Given the description of an element on the screen output the (x, y) to click on. 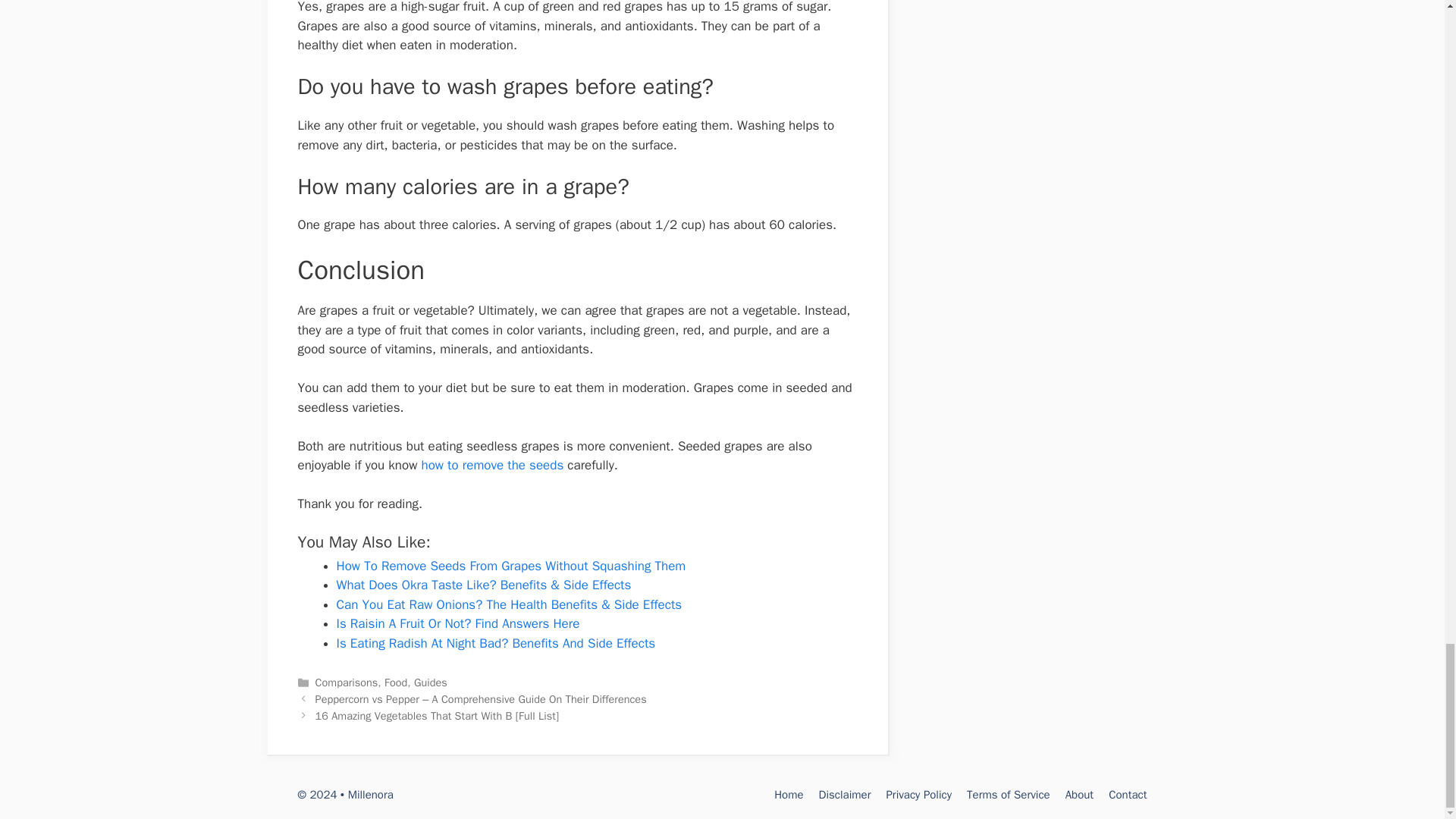
How To Remove Seeds From Grapes Without Squashing Them (510, 565)
Disclaimer (844, 794)
Is Eating Radish At Night Bad? Benefits And Side Effects (496, 643)
how to remove the seeds (491, 465)
Comparisons (346, 682)
How To Remove Seeds From Grapes Without Squashing Them (510, 565)
Home (788, 794)
Is Raisin A Fruit Or Not? Find Answers Here (457, 623)
Food (395, 682)
Is Eating Radish At Night Bad? Benefits And Side Effects (496, 643)
Guides (429, 682)
Is Raisin A Fruit Or Not? Find Answers Here (457, 623)
Privacy Policy (918, 794)
